Given the description of an element on the screen output the (x, y) to click on. 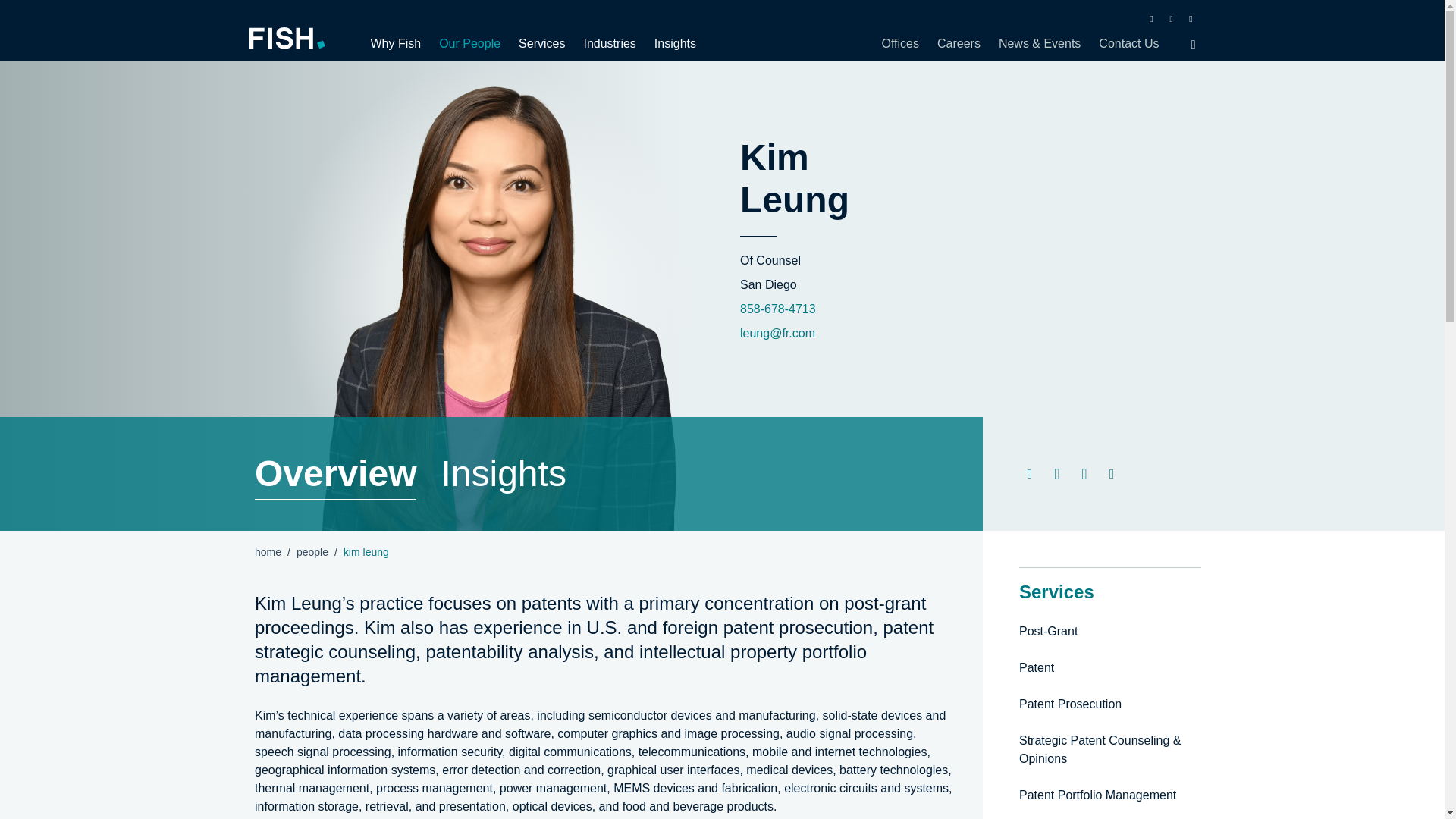
Careers (959, 43)
people (313, 551)
Facebook (1150, 18)
Industries (609, 43)
858-678-4713 (777, 308)
Insights (670, 43)
Twitter (1170, 18)
Fish and Richardson (297, 38)
Insights (503, 473)
Services (541, 43)
Why Fish (399, 43)
home (267, 551)
Overview (335, 473)
Offices (904, 43)
Our People (469, 43)
